Given the description of an element on the screen output the (x, y) to click on. 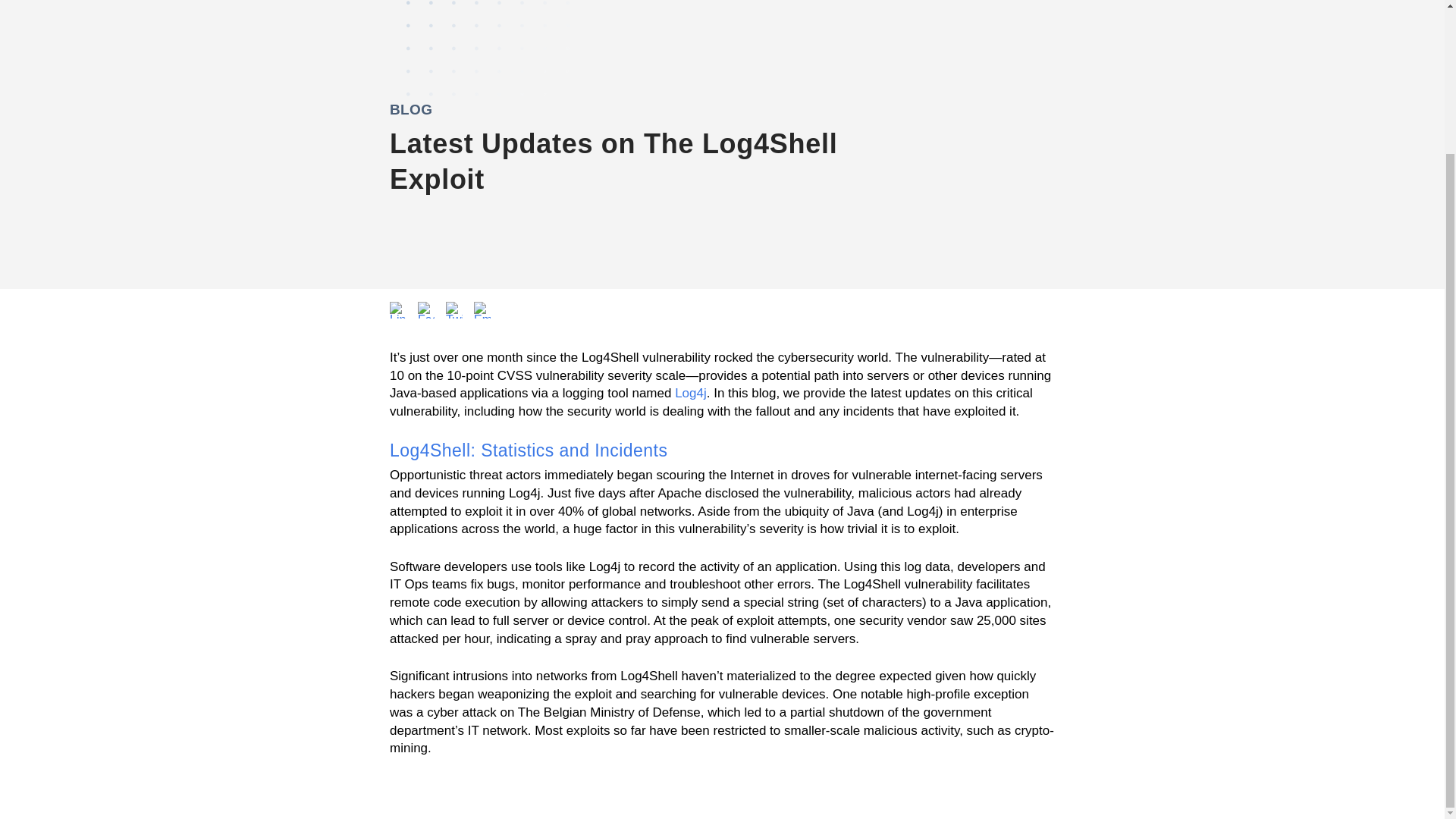
Facebook (425, 310)
Twitter (454, 310)
Email (482, 310)
LinkedIn (398, 310)
